Given the description of an element on the screen output the (x, y) to click on. 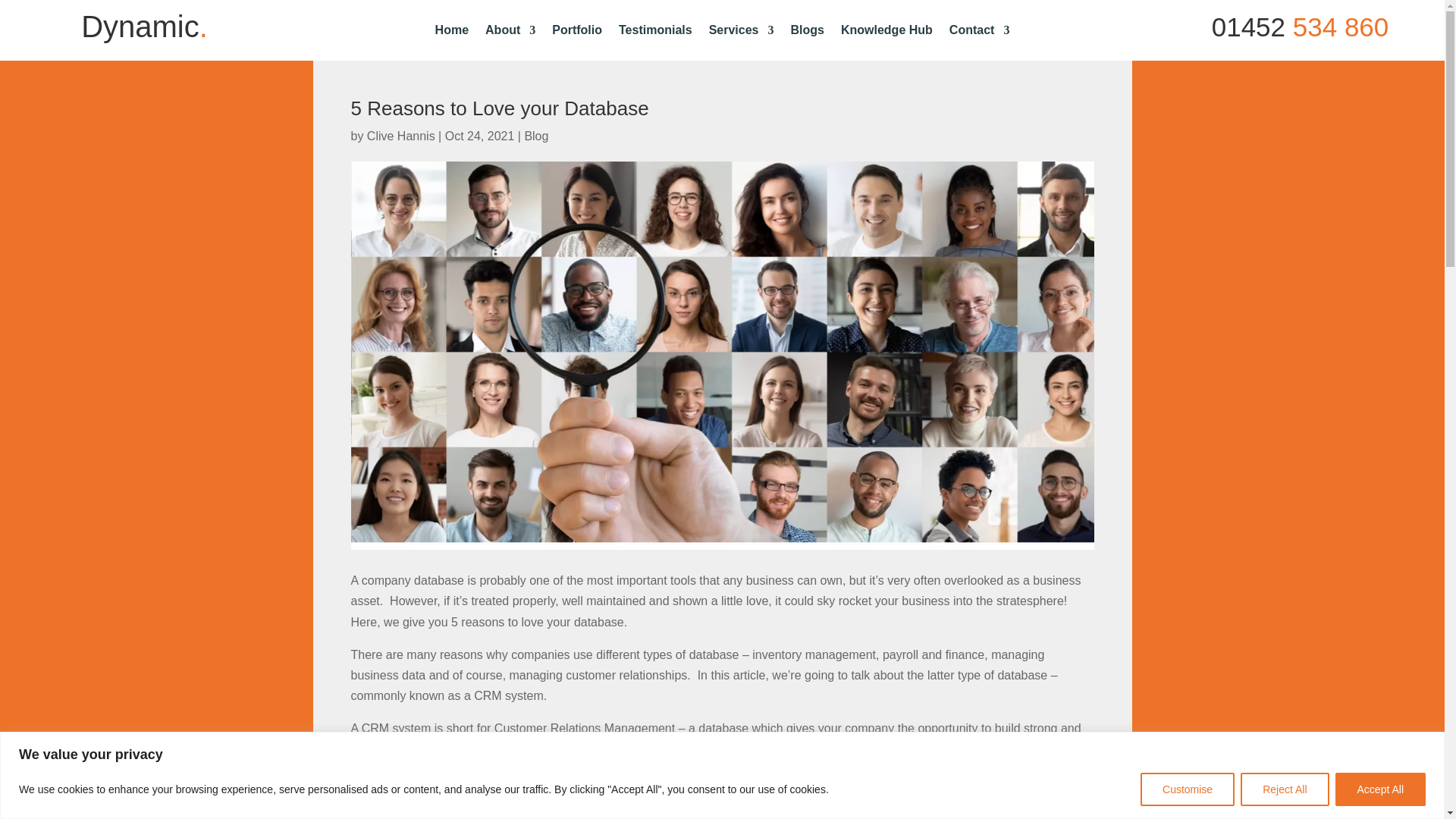
Reject All (1283, 788)
About (509, 33)
Testimonials (655, 33)
Home (451, 33)
Customise (1187, 788)
Accept All (1380, 788)
Services (741, 33)
Portfolio (576, 33)
Blogs (807, 33)
Posts by Clive Hannis (400, 135)
